Given the description of an element on the screen output the (x, y) to click on. 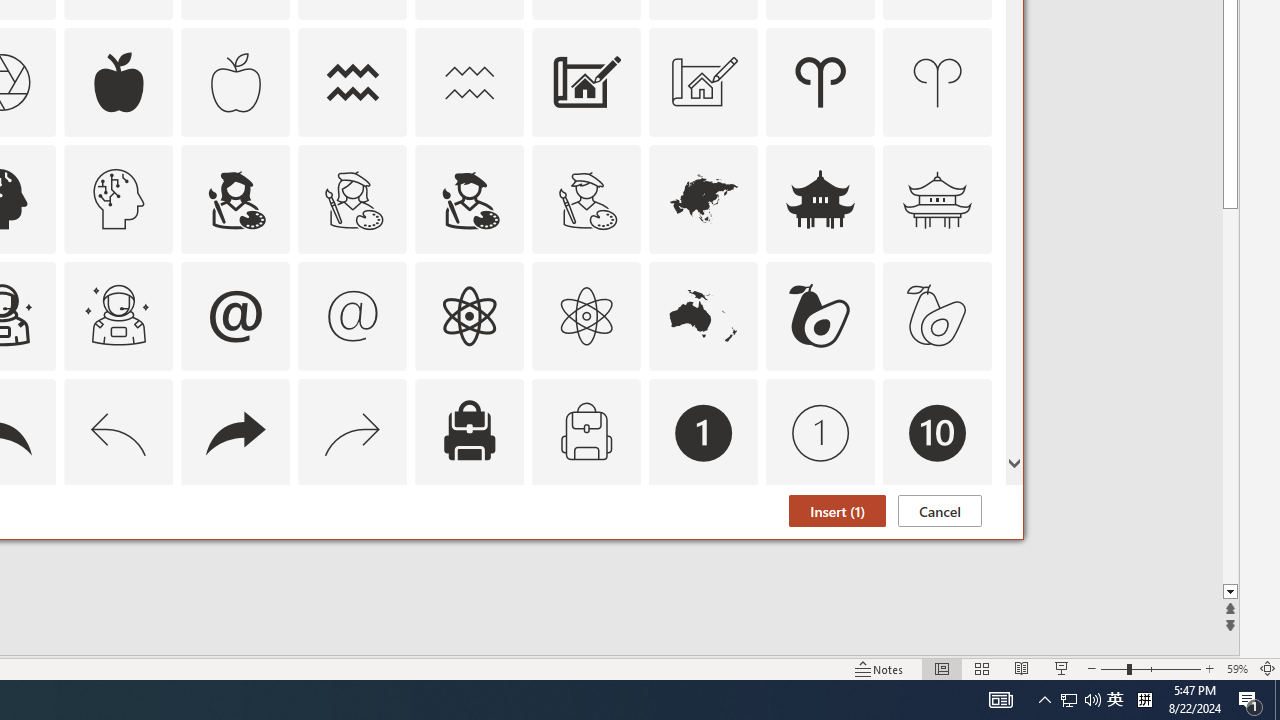
Insert (1) (836, 511)
AutomationID: Icons_Badge1 (703, 432)
AutomationID: Icons_Apple (118, 82)
AutomationID: Icons_Badge7 (353, 550)
